Given the description of an element on the screen output the (x, y) to click on. 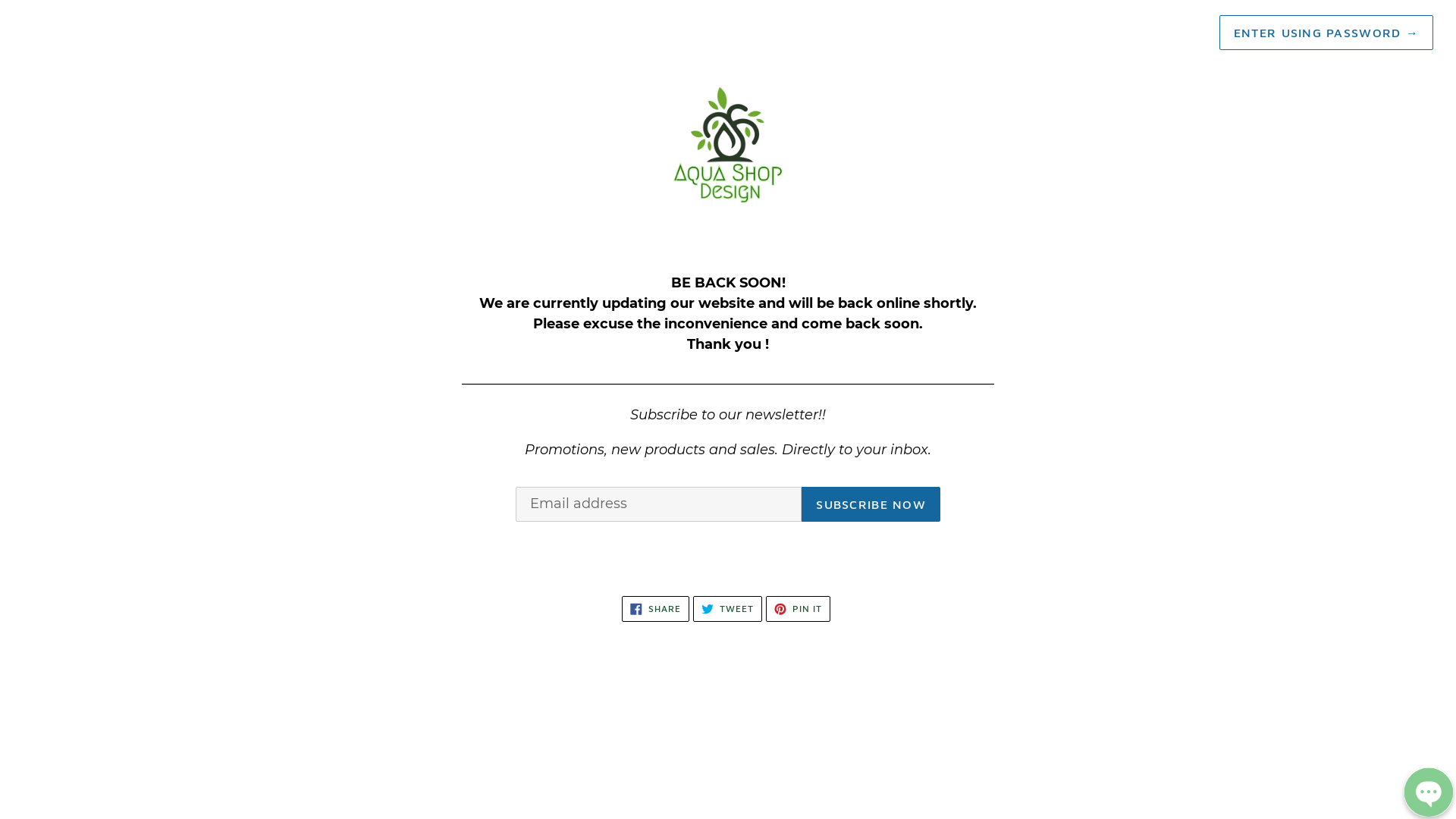
SHARE
SHARE ON FACEBOOK Element type: text (655, 608)
PIN IT
PIN ON PINTEREST Element type: text (797, 608)
SUBSCRIBE NOW Element type: text (870, 503)
TWEET
TWEET ON TWITTER Element type: text (727, 608)
